Given the description of an element on the screen output the (x, y) to click on. 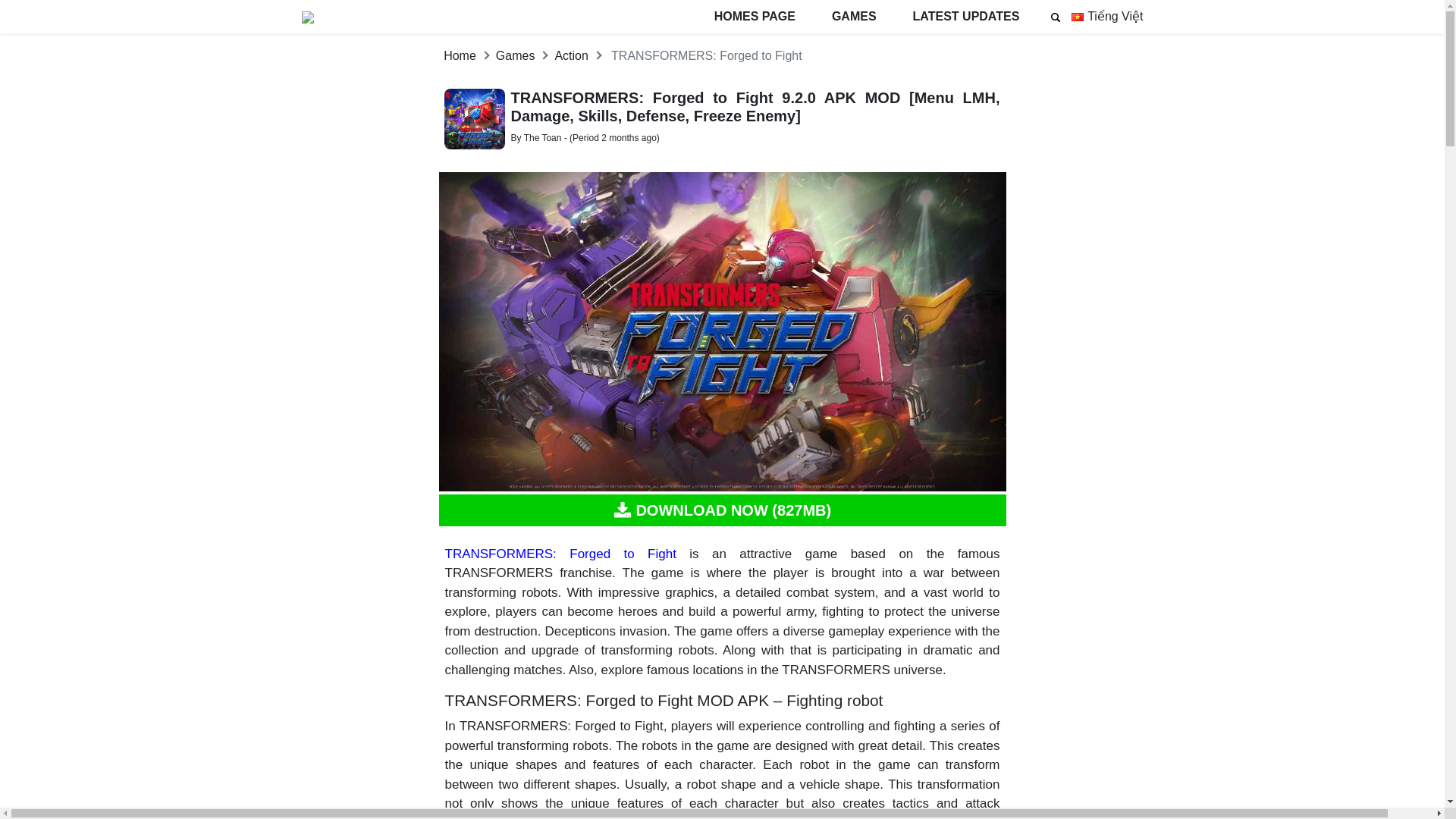
The Toan (543, 137)
TRANSFORMERS: Forged to Fight (559, 554)
HOMES PAGE (754, 16)
Home (460, 55)
Action (571, 55)
GAMES (854, 16)
Games (515, 55)
Home (460, 55)
LATEST UPDATES (966, 16)
